Given the description of an element on the screen output the (x, y) to click on. 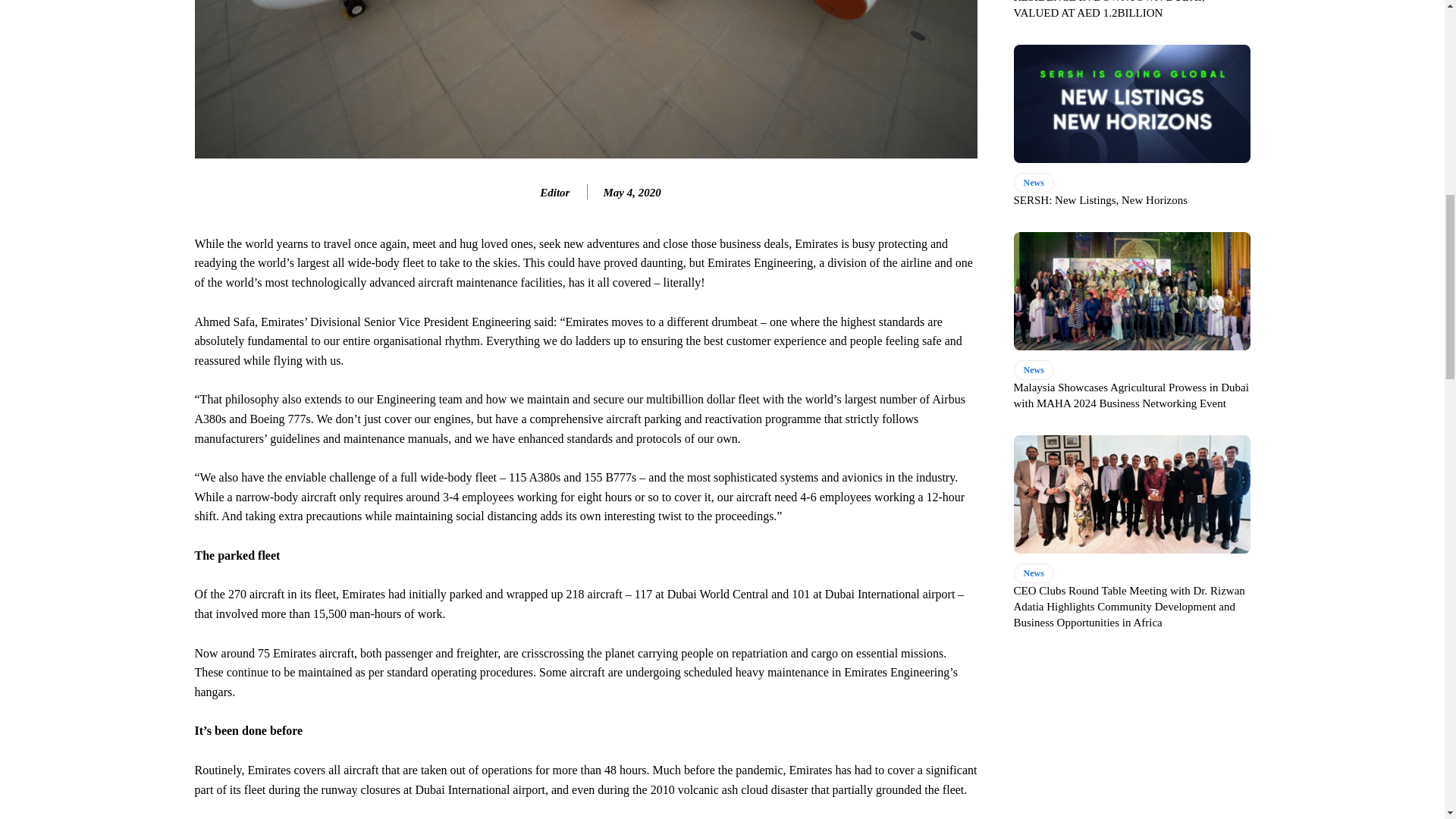
Editor (524, 191)
unnamed-8 (584, 79)
